Given the description of an element on the screen output the (x, y) to click on. 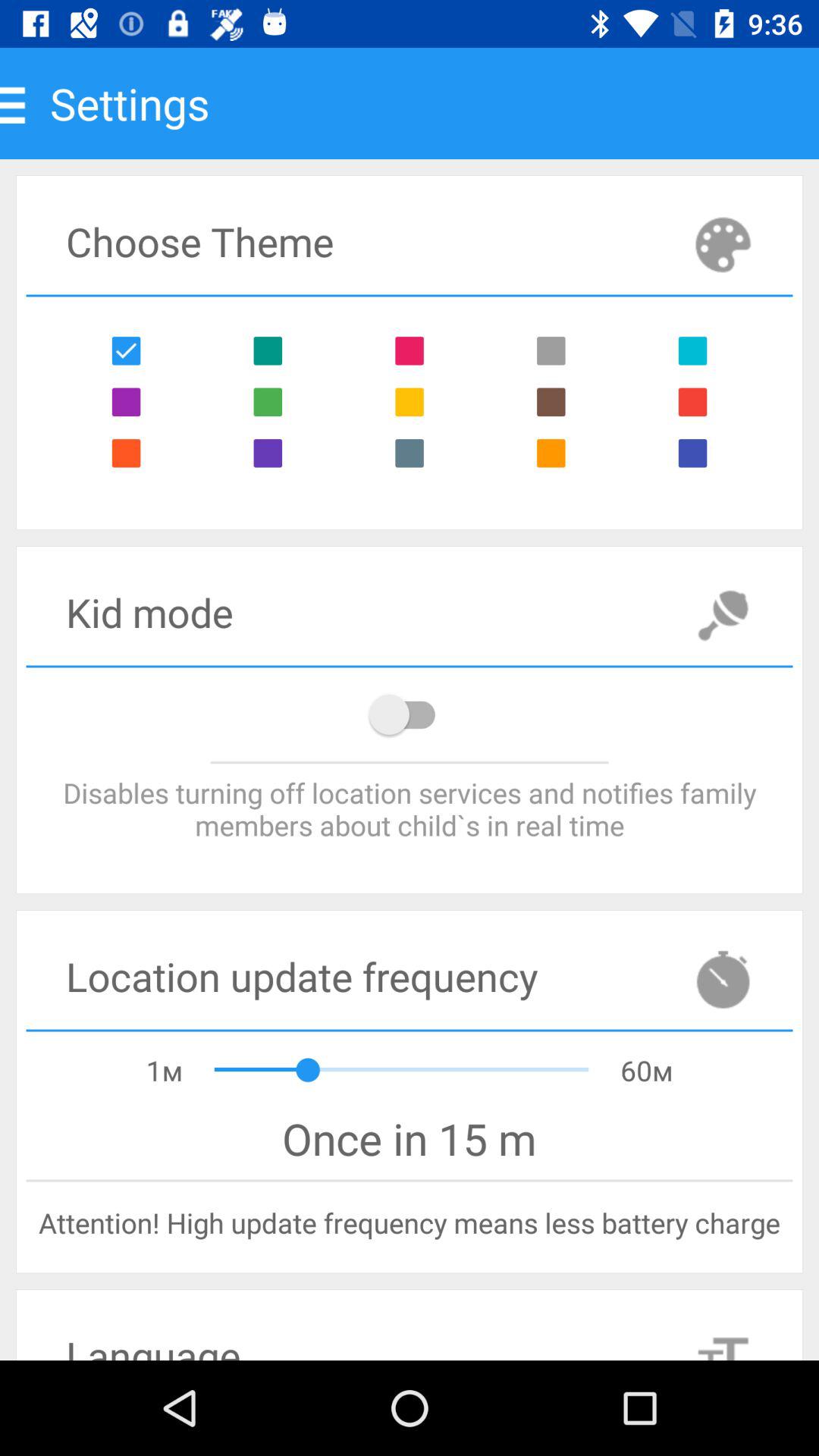
kid mode toggle button (409, 714)
